Given the description of an element on the screen output the (x, y) to click on. 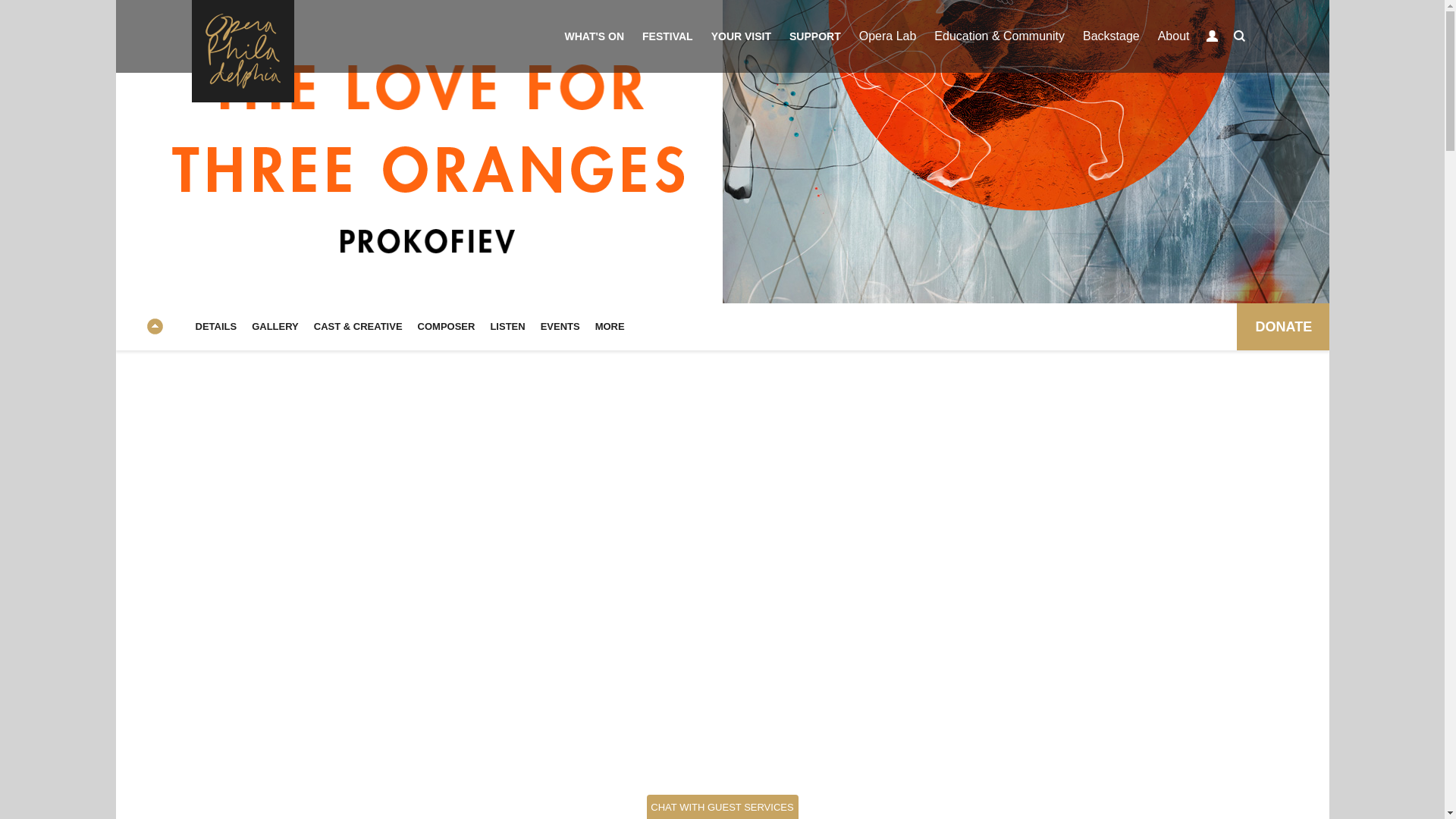
Opera Lab (888, 36)
WHAT'S ON (594, 36)
SUPPORT (815, 36)
FESTIVAL (667, 36)
YOUR VISIT (740, 36)
